Given the description of an element on the screen output the (x, y) to click on. 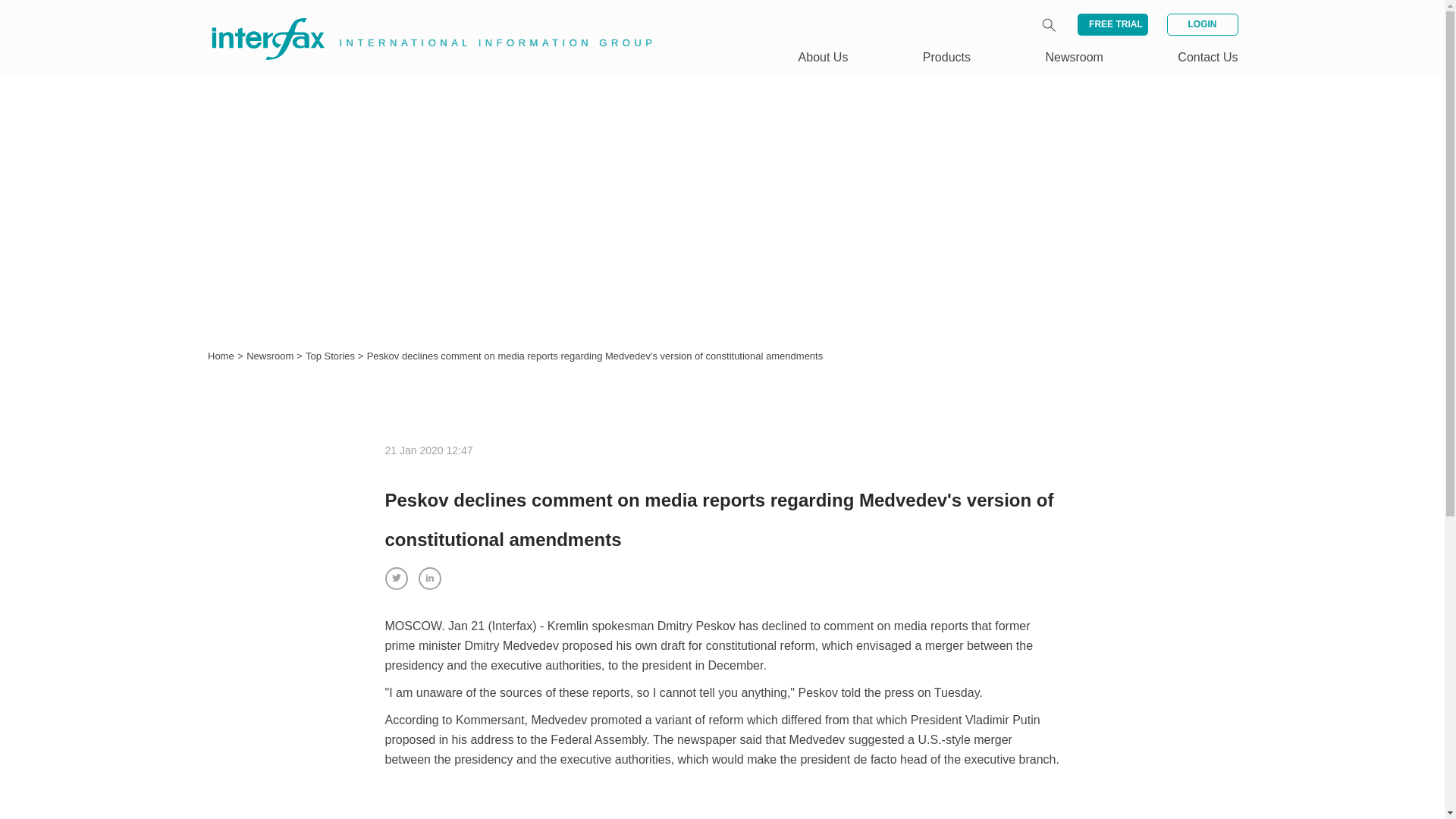
Newsroom (1073, 56)
LOGIN (1201, 24)
About Us (822, 56)
Top Stories (331, 355)
Contact Us (1207, 56)
FREE TRIAL (1112, 24)
Newsroom (271, 355)
Home (221, 355)
INTERNATIONAL INFORMATION GROUP (421, 20)
Contact Us (1207, 56)
